Given the description of an element on the screen output the (x, y) to click on. 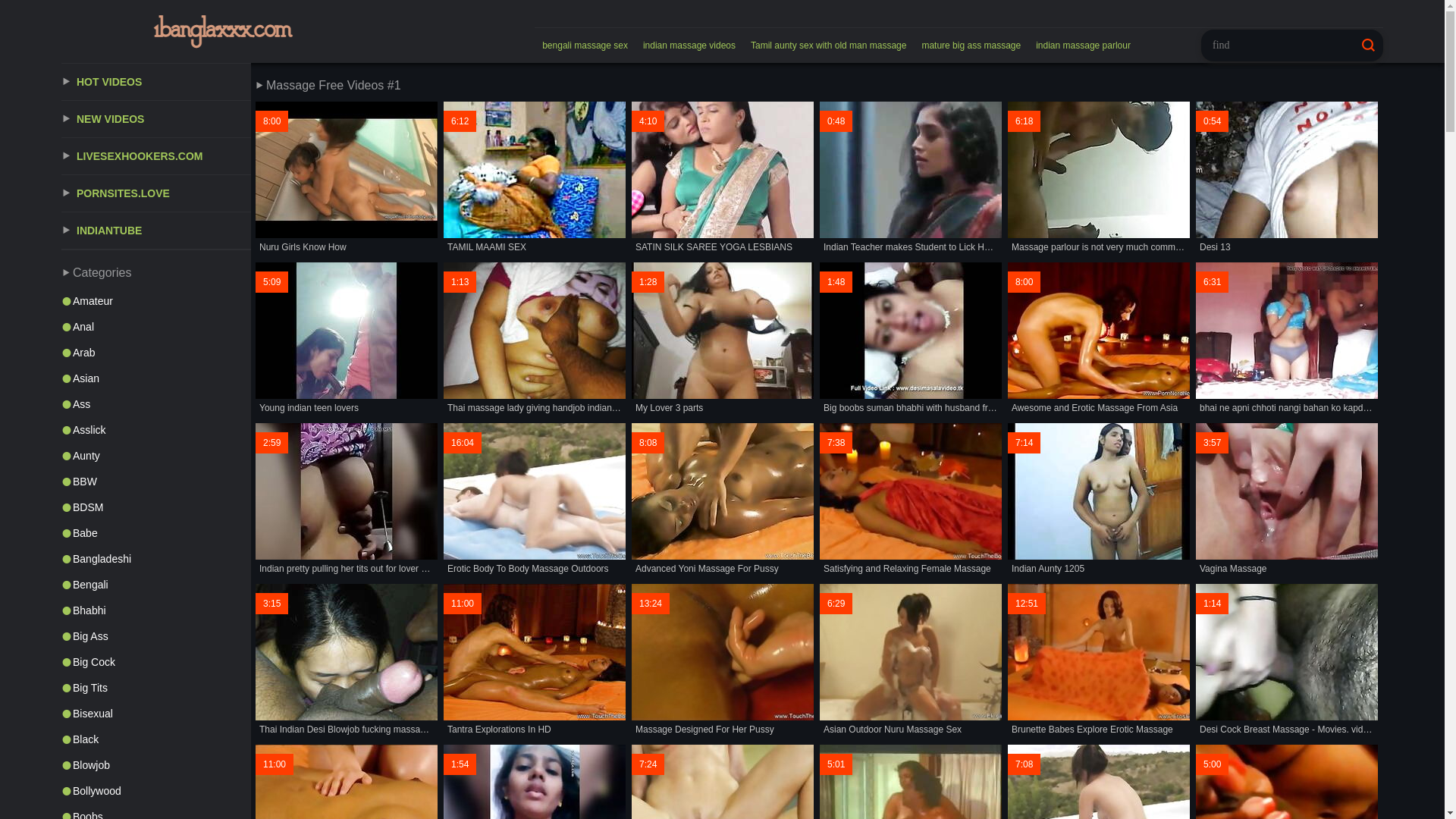
7:14
Indian Aunty 1205 Element type: text (1098, 500)
8:00
Nuru Girls Know How Element type: text (346, 178)
indian massage parlour Element type: text (1083, 45)
Aunty Element type: text (156, 455)
INDIANTUBE Element type: text (156, 230)
2:59
Indian pretty pulling her tits out for lover on cam Element type: text (346, 500)
HOT VIDEOS Element type: text (156, 81)
mature big ass massage Element type: text (970, 45)
LIVESEXHOOKERS.COM Element type: text (156, 156)
8:08
Advanced Yoni Massage For Pussy Element type: text (722, 500)
BBW Element type: text (156, 481)
3:57
Vagina Massage Element type: text (1286, 500)
7:38
Satisfying and Relaxing Female Massage Element type: text (910, 500)
Asian Element type: text (156, 378)
Blowjob Element type: text (156, 765)
5:09
Young indian teen lovers Element type: text (346, 339)
16:04
Erotic Body To Body Massage Outdoors Element type: text (534, 500)
Black Element type: text (156, 739)
8:00
Awesome and Erotic Massage From Asia Element type: text (1098, 339)
Bangladeshi Element type: text (156, 558)
Ass Element type: text (156, 404)
Tamil aunty sex with old man massage Element type: text (828, 45)
Big Tits Element type: text (156, 687)
12:51
Brunette Babes Explore Erotic Massage Element type: text (1098, 660)
NEW VIDEOS Element type: text (156, 119)
3:15
Thai Indian Desi Blowjob fucking massage - Part 3 Element type: text (346, 660)
bengali massage sex Element type: text (584, 45)
0:54
Desi 13 Element type: text (1286, 178)
6:29
Asian Outdoor Nuru Massage Sex Element type: text (910, 660)
Bhabhi Element type: text (156, 610)
1:28
My Lover 3 parts Element type: text (722, 339)
BDSM Element type: text (156, 507)
4:10
SATIN SILK SAREE YOGA LESBIANS Element type: text (722, 178)
6:12
TAMIL MAAMI SEX Element type: text (534, 178)
Bollywood Element type: text (156, 790)
Bisexual Element type: text (156, 713)
indian massage videos Element type: text (689, 45)
Arab Element type: text (156, 352)
Amateur Element type: text (156, 300)
6:31
bhai ne apni chhoti nangi bahan ko kapde pahanye Element type: text (1286, 339)
13:24
Massage Designed For Her Pussy Element type: text (722, 660)
Asslick Element type: text (156, 429)
11:00
Tantra Explorations In HD Element type: text (534, 660)
Big Ass Element type: text (156, 636)
1:14
Desi Cock Breast Massage - Movies. video2porn2 Element type: text (1286, 660)
Babe Element type: text (156, 533)
Bengali Element type: text (156, 584)
Big Cock Element type: text (156, 661)
0:48
Indian Teacher makes Student to Lick Her Pussy Element type: text (910, 178)
PORNSITES.LOVE Element type: text (156, 193)
Anal Element type: text (156, 326)
